Given the description of an element on the screen output the (x, y) to click on. 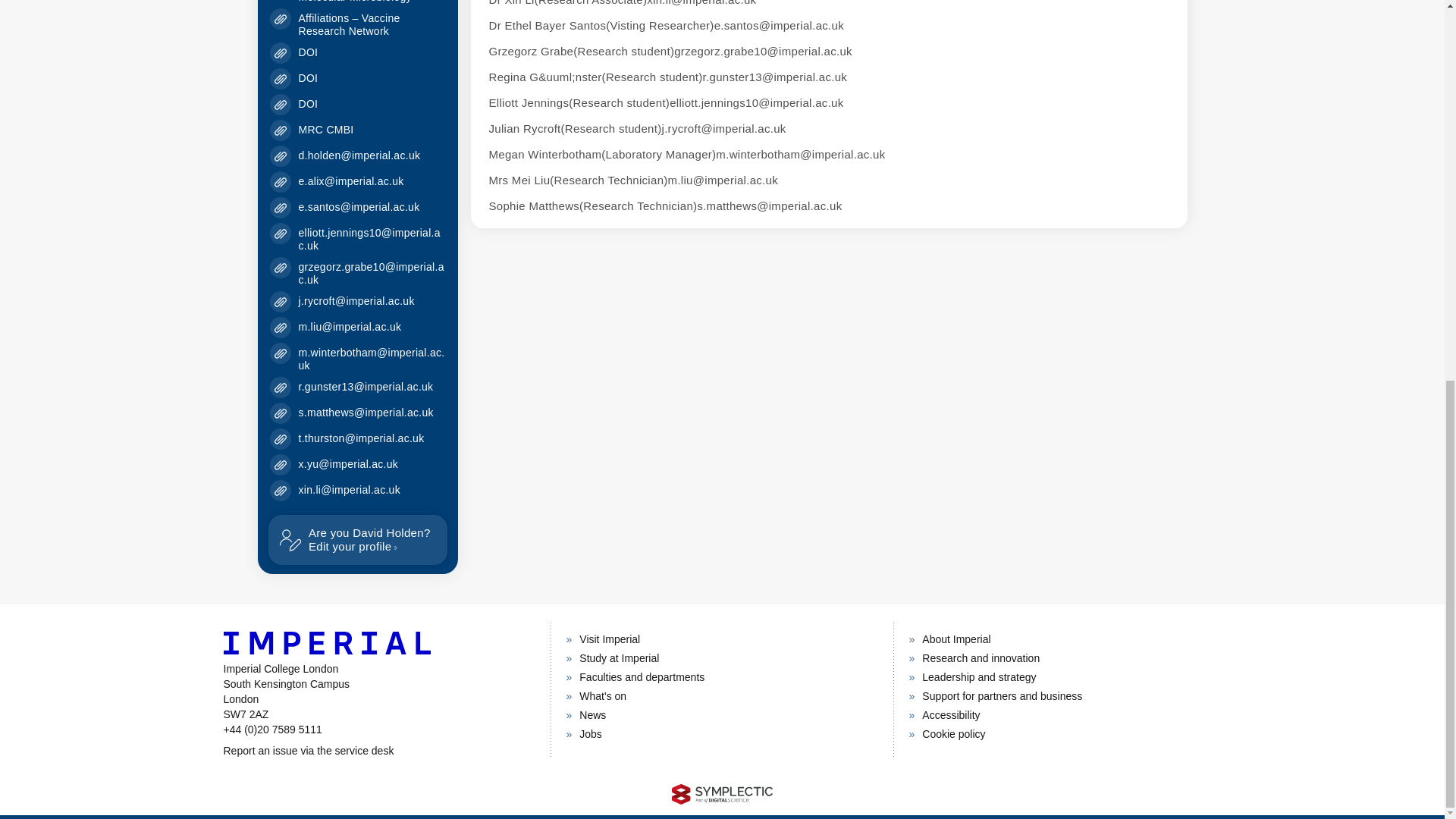
DOI (308, 103)
DOI (308, 78)
DOI (356, 540)
Report an issue via the service desk (308, 51)
MRC CMBI (378, 750)
